Given the description of an element on the screen output the (x, y) to click on. 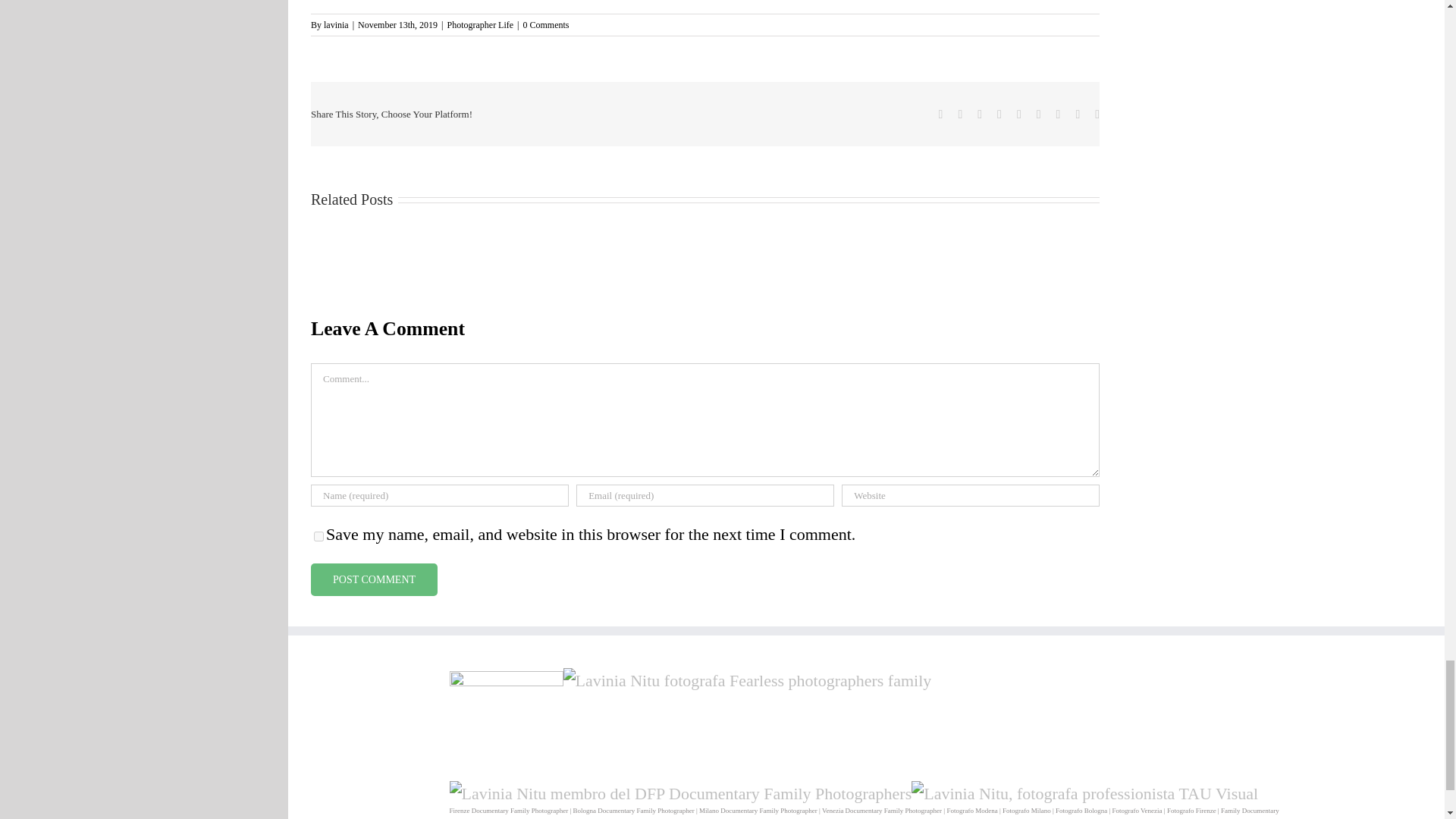
Photographer Life (479, 24)
Post Comment (374, 579)
Posts by lavinia (336, 24)
yes (318, 536)
lavinia (336, 24)
0 Comments (545, 24)
